Given the description of an element on the screen output the (x, y) to click on. 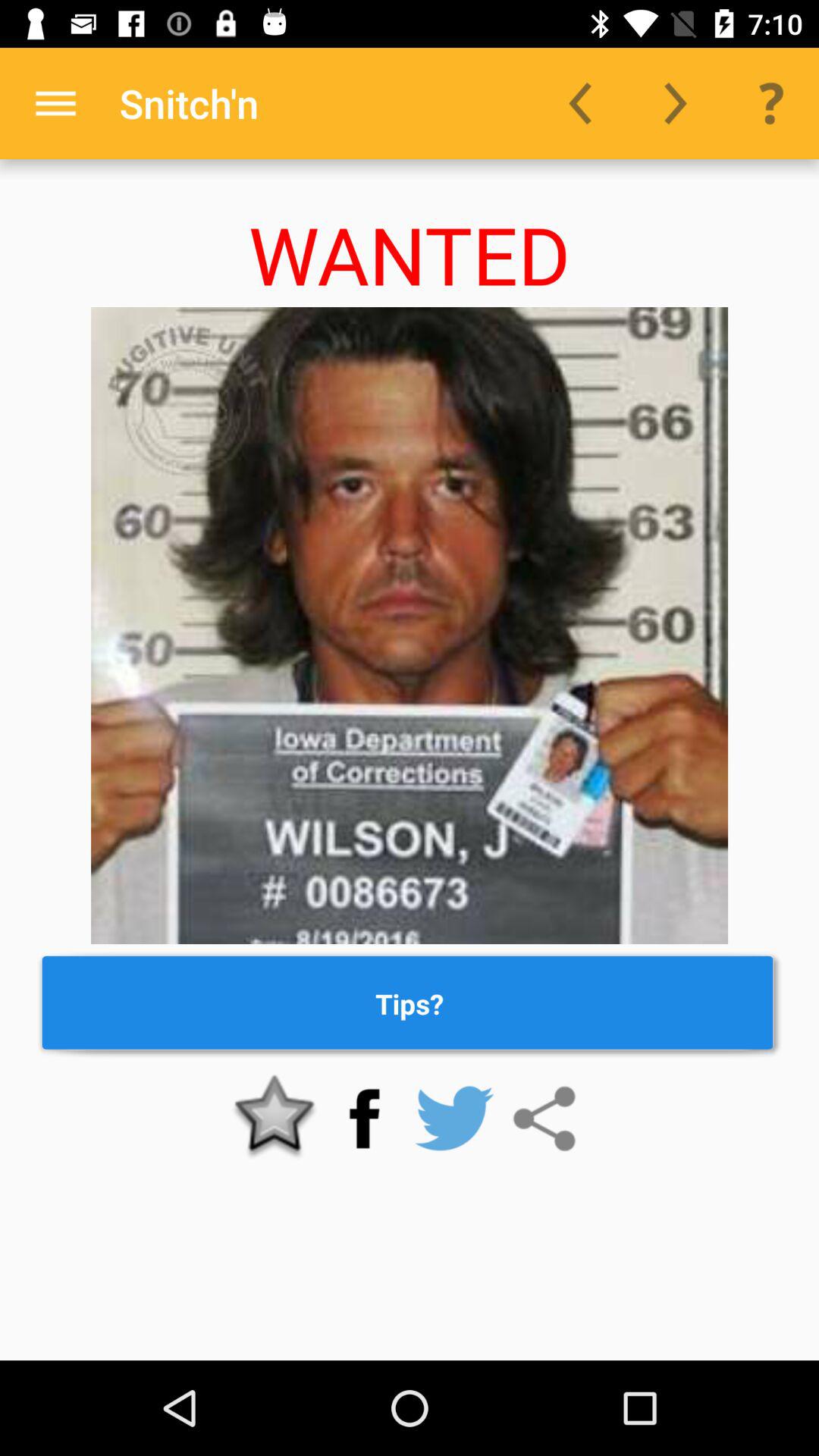
share on facebook button (364, 1118)
